Given the description of an element on the screen output the (x, y) to click on. 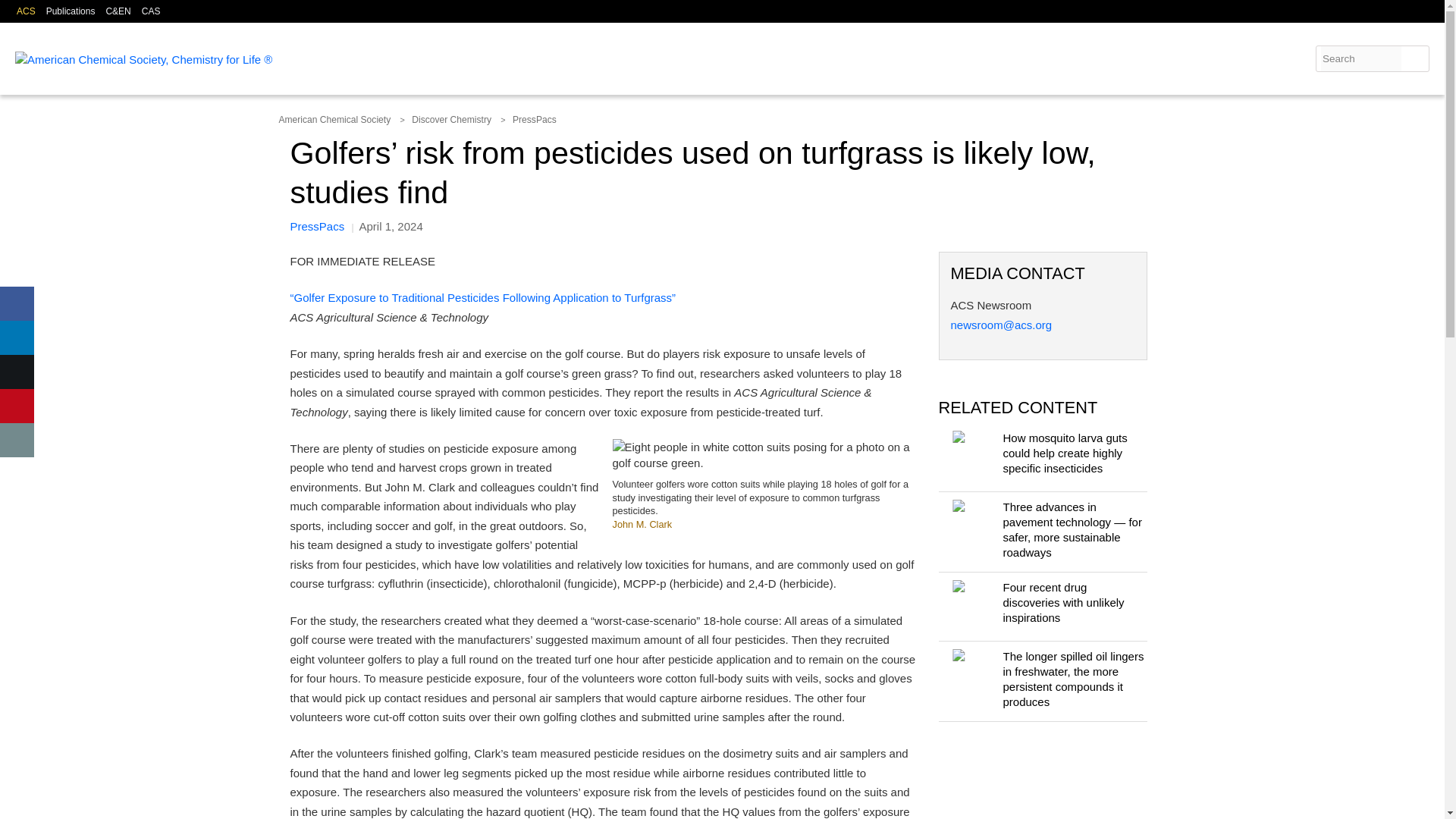
CAS (150, 10)
ACS (25, 10)
Four recent drug discoveries with unlikely inspirations (967, 606)
LinkedIn (16, 337)
Enter keywords to search (1360, 58)
Pinterest (16, 406)
Tweet (16, 371)
Publications (71, 10)
Email (16, 440)
Facebook (16, 303)
